Given the description of an element on the screen output the (x, y) to click on. 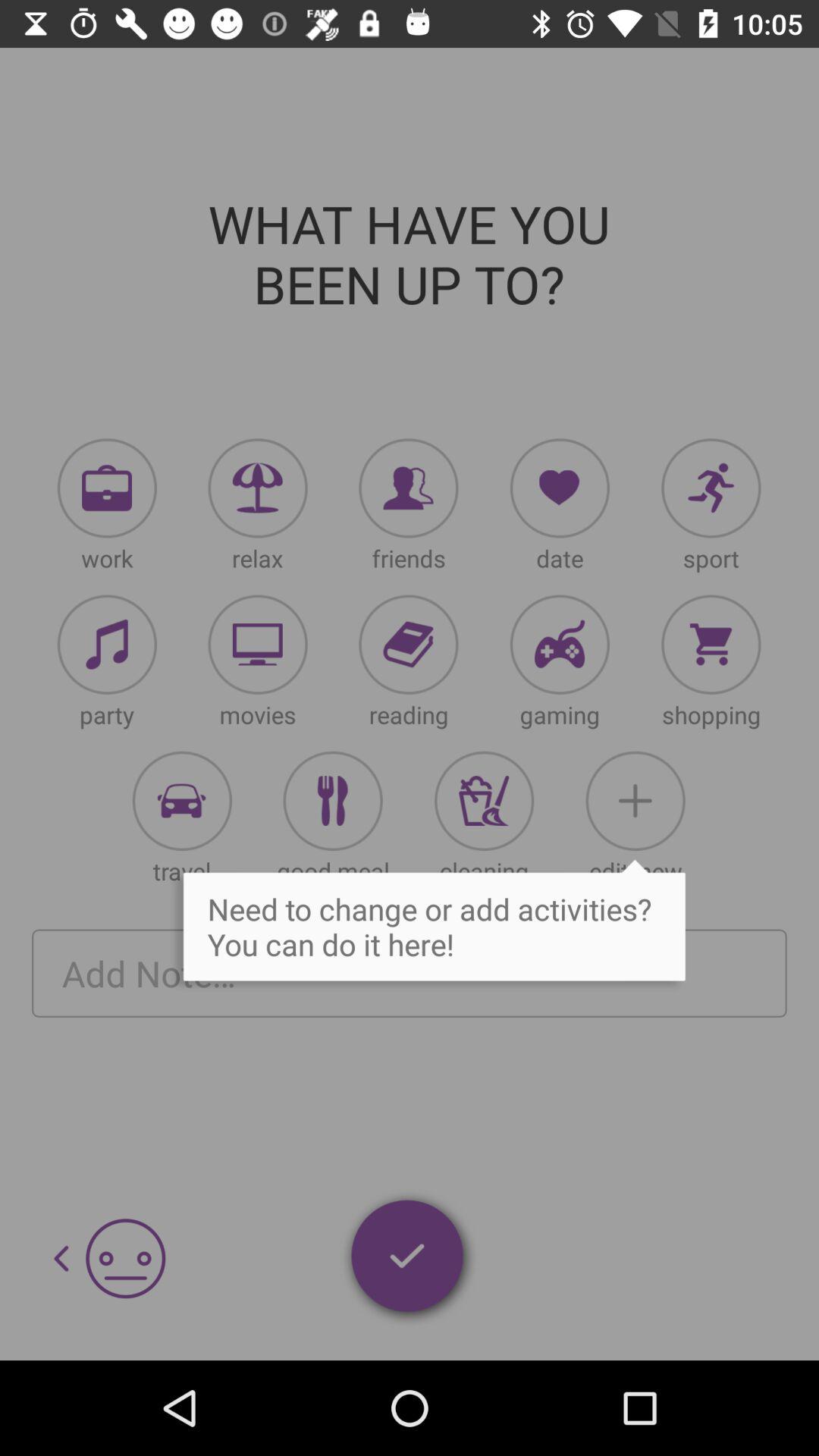
select the music bar (106, 644)
